Given the description of an element on the screen output the (x, y) to click on. 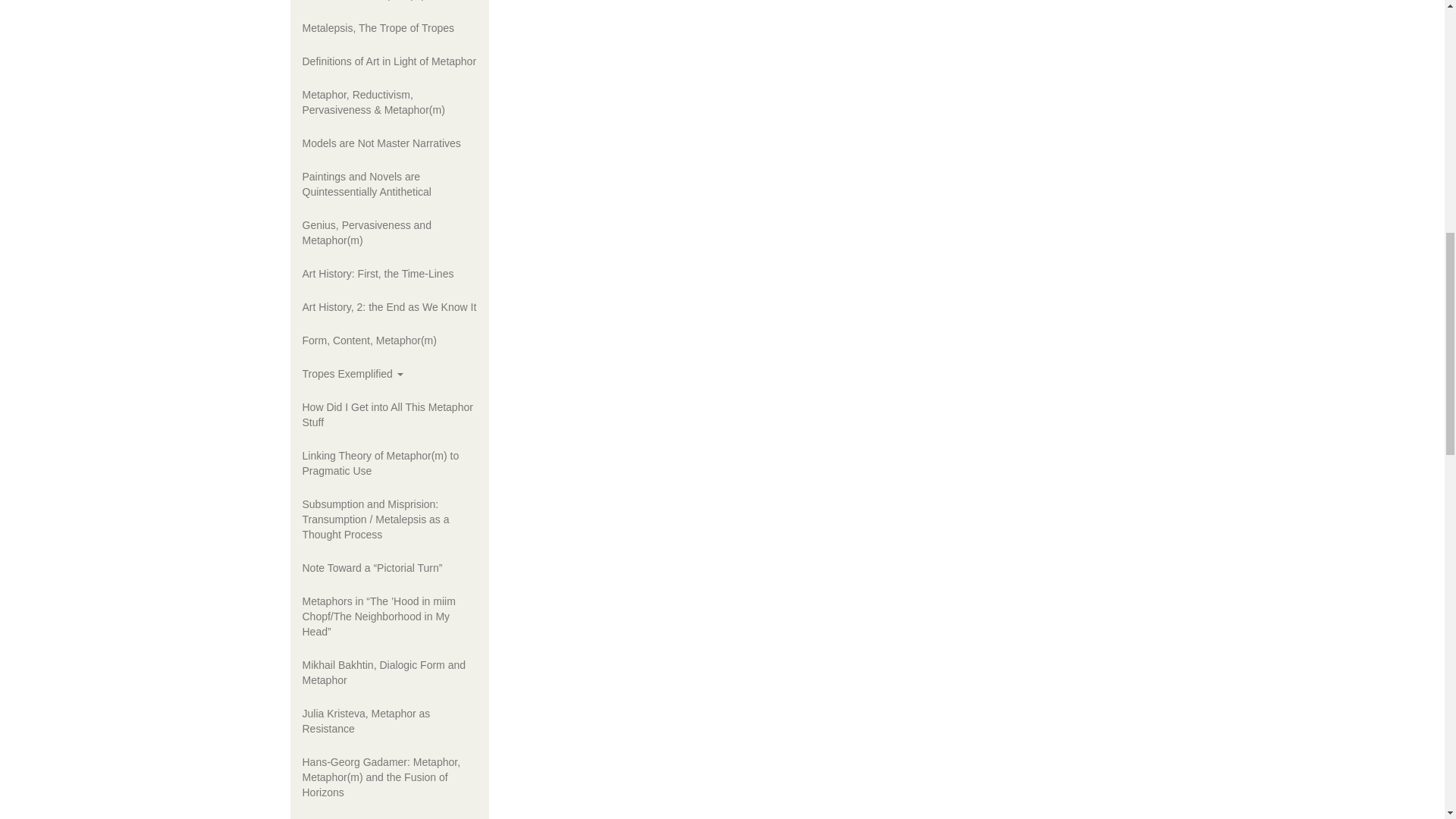
Metalepsis, The Trope of Tropes (389, 28)
Tropes Exemplified  (389, 373)
Paintings and Novels are Quintessentially Antithetical (389, 183)
Art History: First, the Time-Lines (389, 273)
Definitions of Art in Light of Metaphor (389, 61)
Art History, 2: the End as We Know It (389, 306)
Models are Not Master Narratives (389, 142)
